Given the description of an element on the screen output the (x, y) to click on. 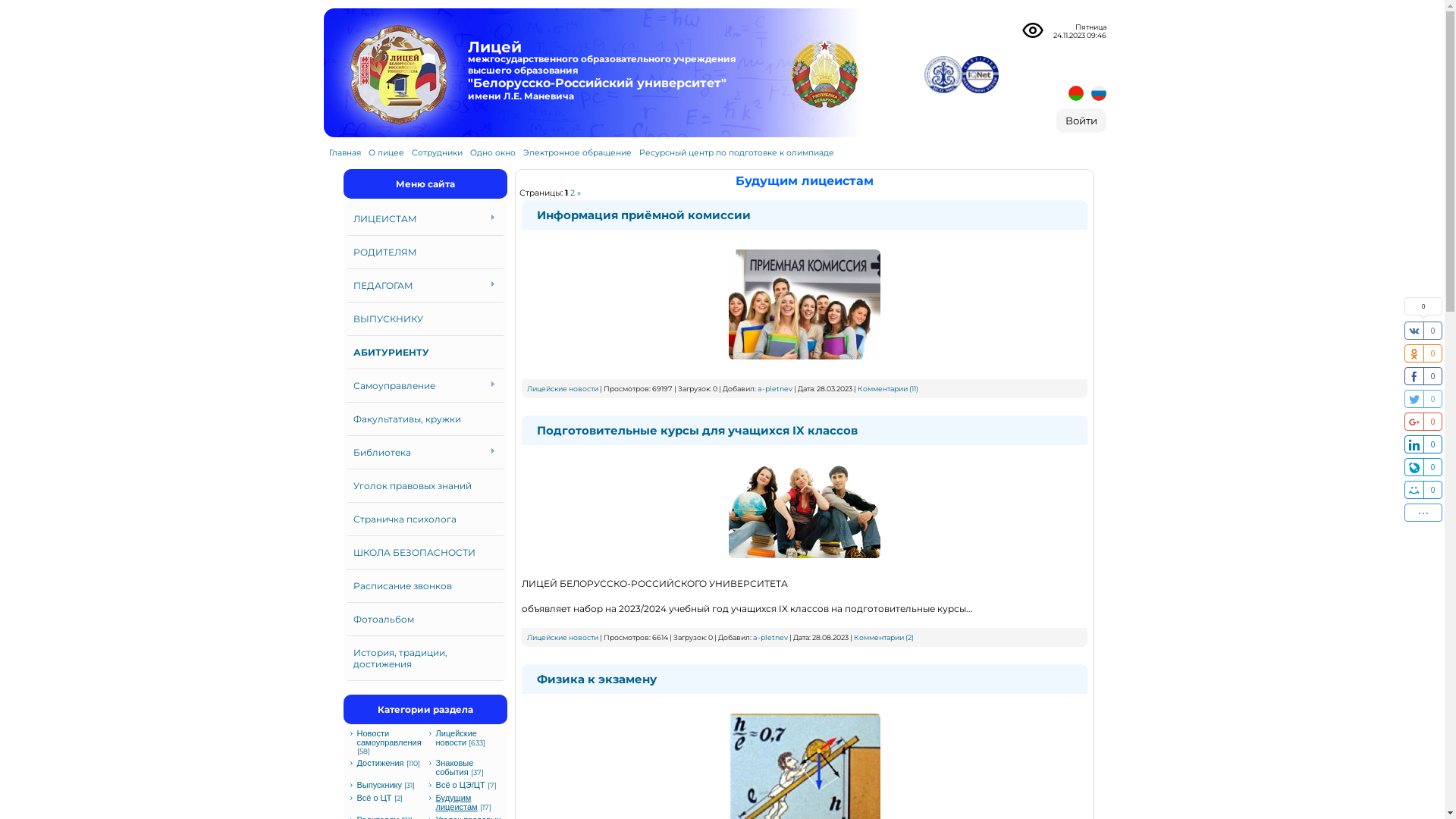
2 Element type: text (572, 192)
a-pletnev Element type: text (773, 388)
a-pletnev Element type: text (769, 637)
